Given the description of an element on the screen output the (x, y) to click on. 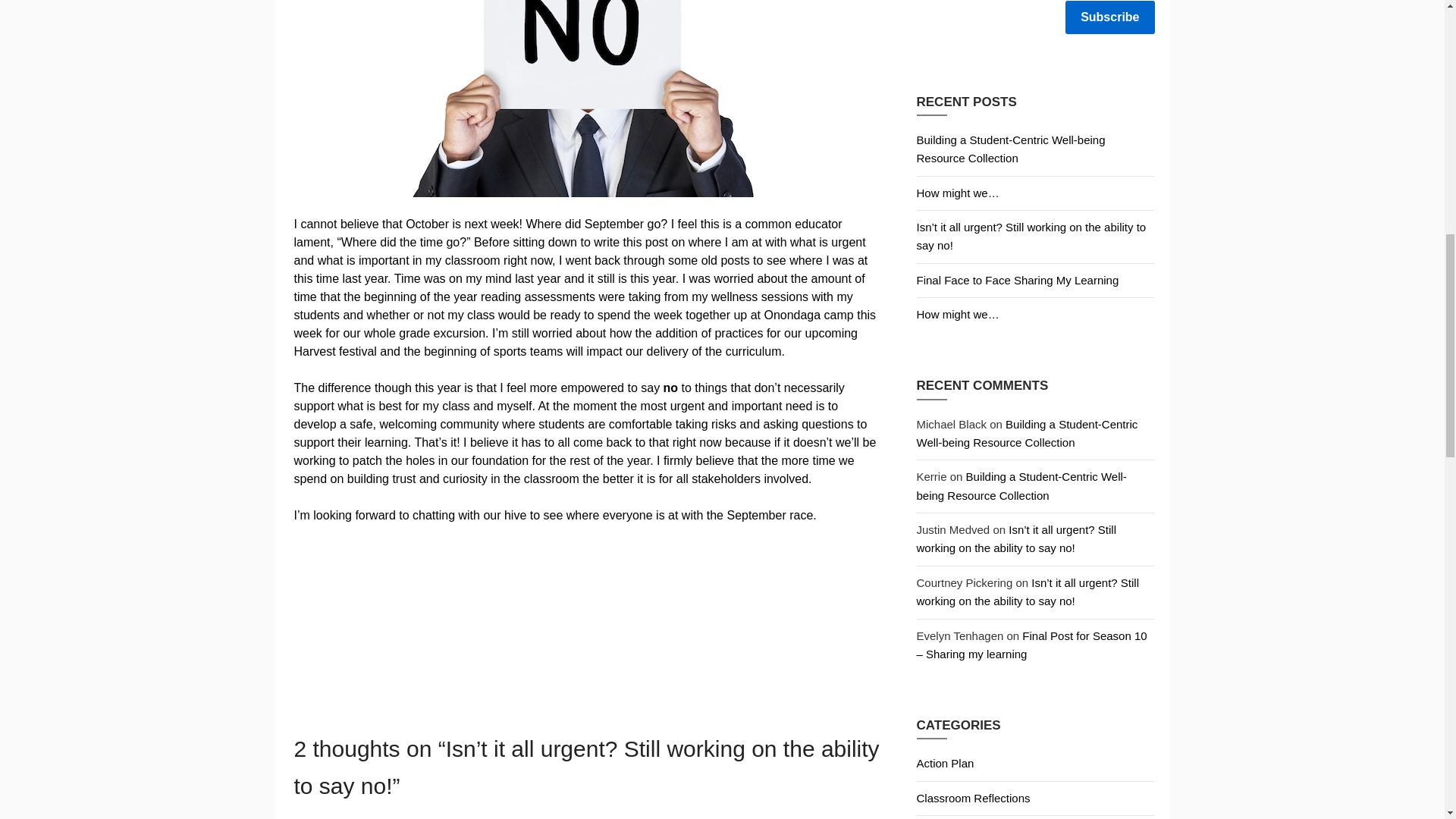
Subscribe (1109, 17)
Action Plan (944, 762)
Final Face to Face Sharing My Learning (1016, 279)
Building a Student-Centric Well-being Resource Collection (1020, 485)
Classroom Reflections (972, 797)
Subscribe (1109, 17)
Building a Student-Centric Well-being Resource Collection (1010, 148)
Building a Student-Centric Well-being Resource Collection (1026, 432)
